Given the description of an element on the screen output the (x, y) to click on. 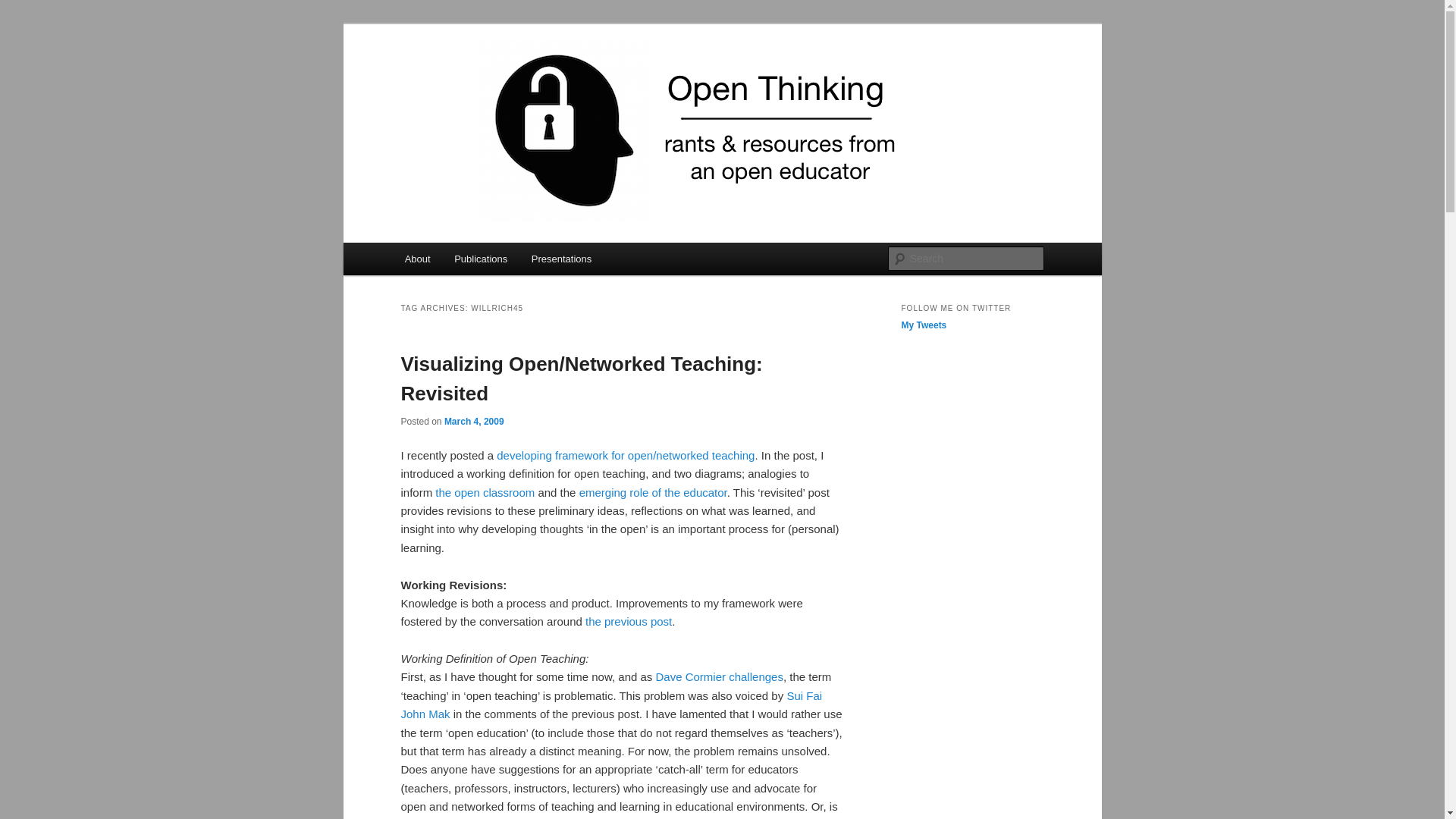
Publications (480, 258)
emerging role of the educator (652, 492)
the open classroom (484, 492)
Sui Fai John Mak (611, 704)
March 4, 2009 (473, 420)
Search (24, 8)
the previous post (628, 621)
Dave Cormier challenges (719, 676)
Presentations (561, 258)
open thinking (475, 78)
